Given the description of an element on the screen output the (x, y) to click on. 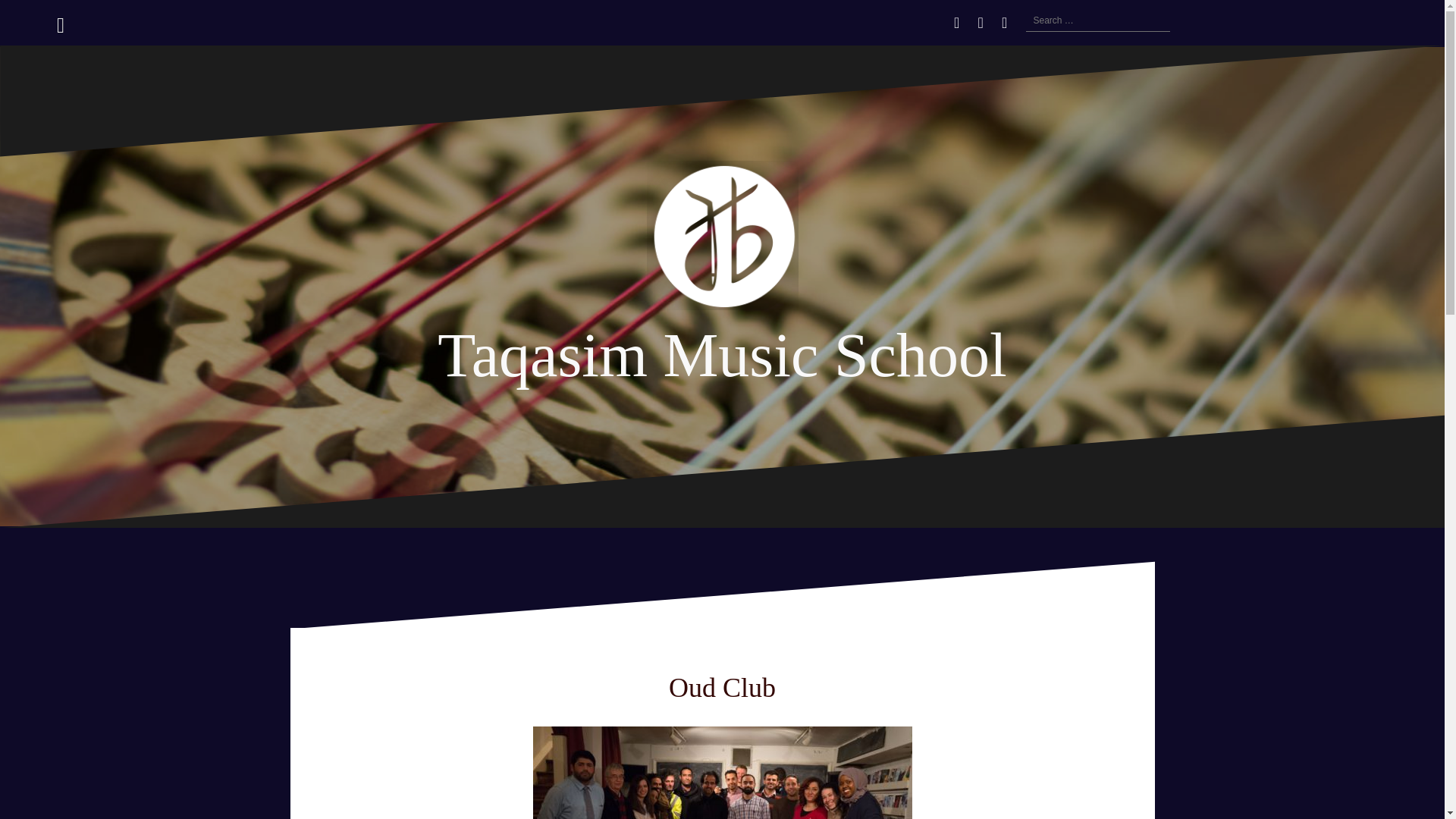
Taqasim Music School (721, 239)
Taqasim Music School (722, 355)
Search (30, 20)
